Given the description of an element on the screen output the (x, y) to click on. 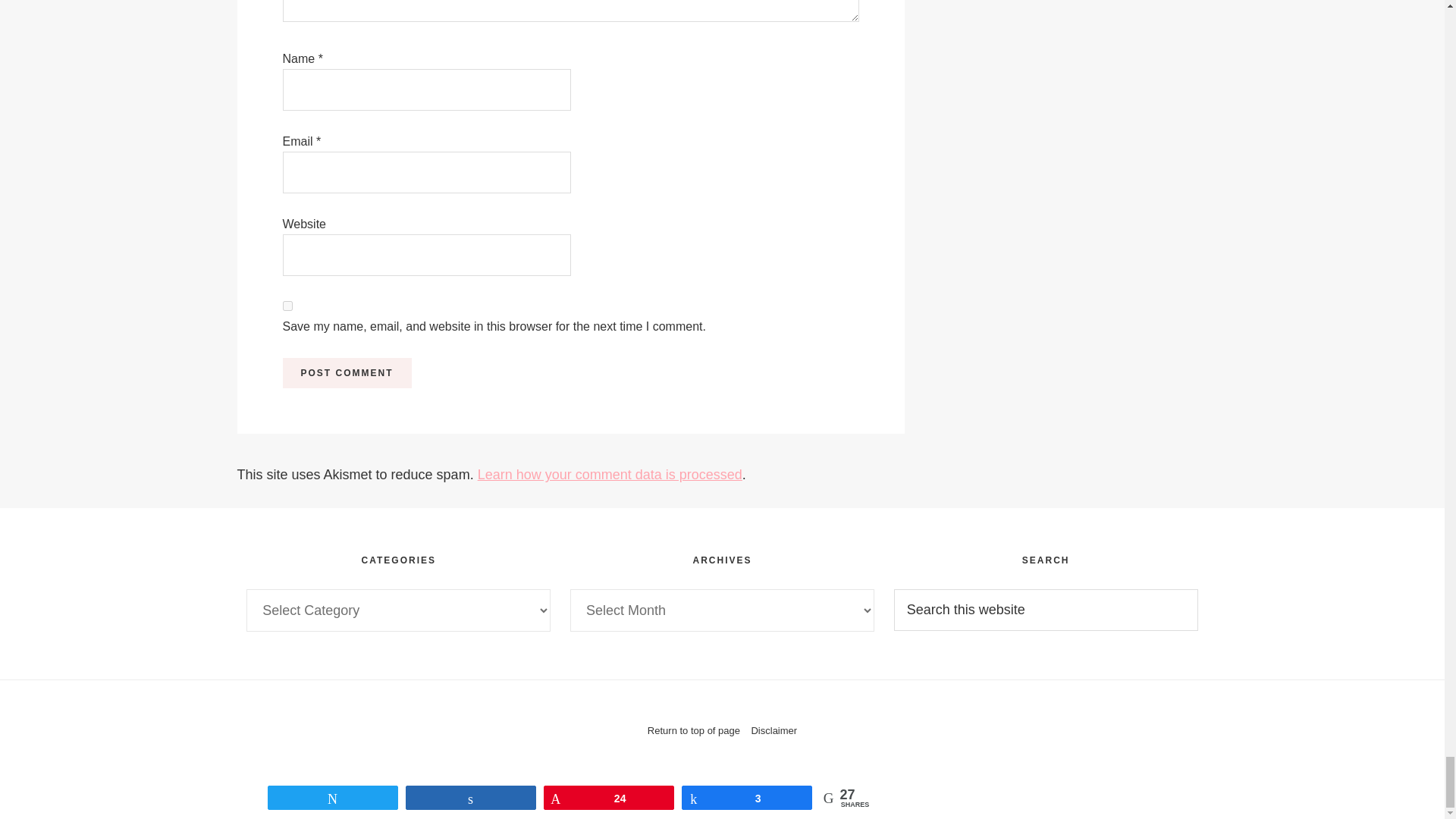
Post Comment (346, 372)
yes (287, 306)
